Given the description of an element on the screen output the (x, y) to click on. 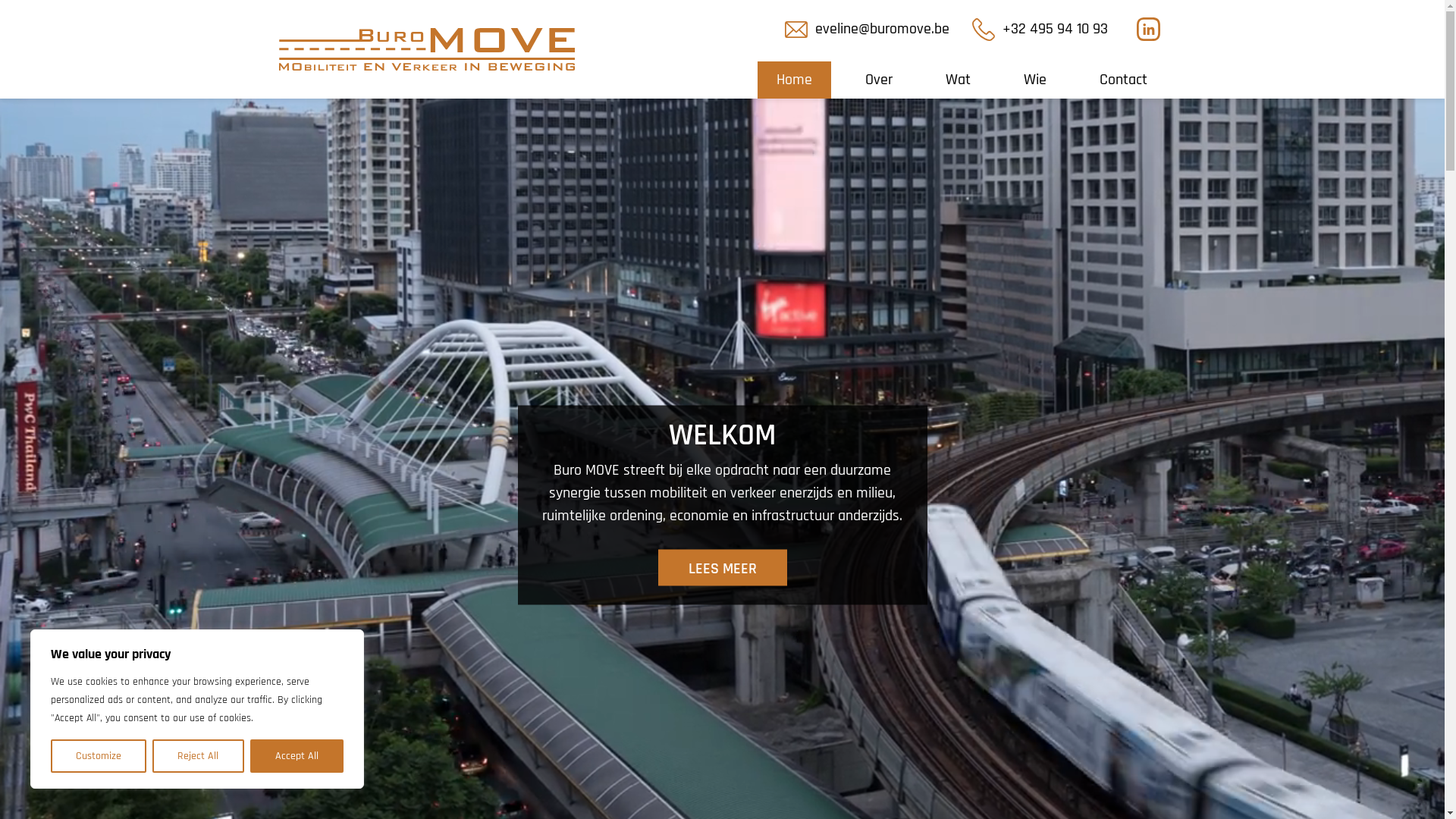
LEES MEER Element type: text (722, 567)
+32 495 94 10 93 Element type: text (1039, 29)
Wat Element type: text (957, 79)
Home Element type: text (793, 79)
Wie Element type: text (1034, 79)
Accept All Element type: text (296, 755)
Contact Element type: text (1122, 79)
eveline@buromove.be Element type: text (866, 28)
Over Element type: text (878, 79)
Reject All Element type: text (197, 755)
Customize Element type: text (98, 755)
